Given the description of an element on the screen output the (x, y) to click on. 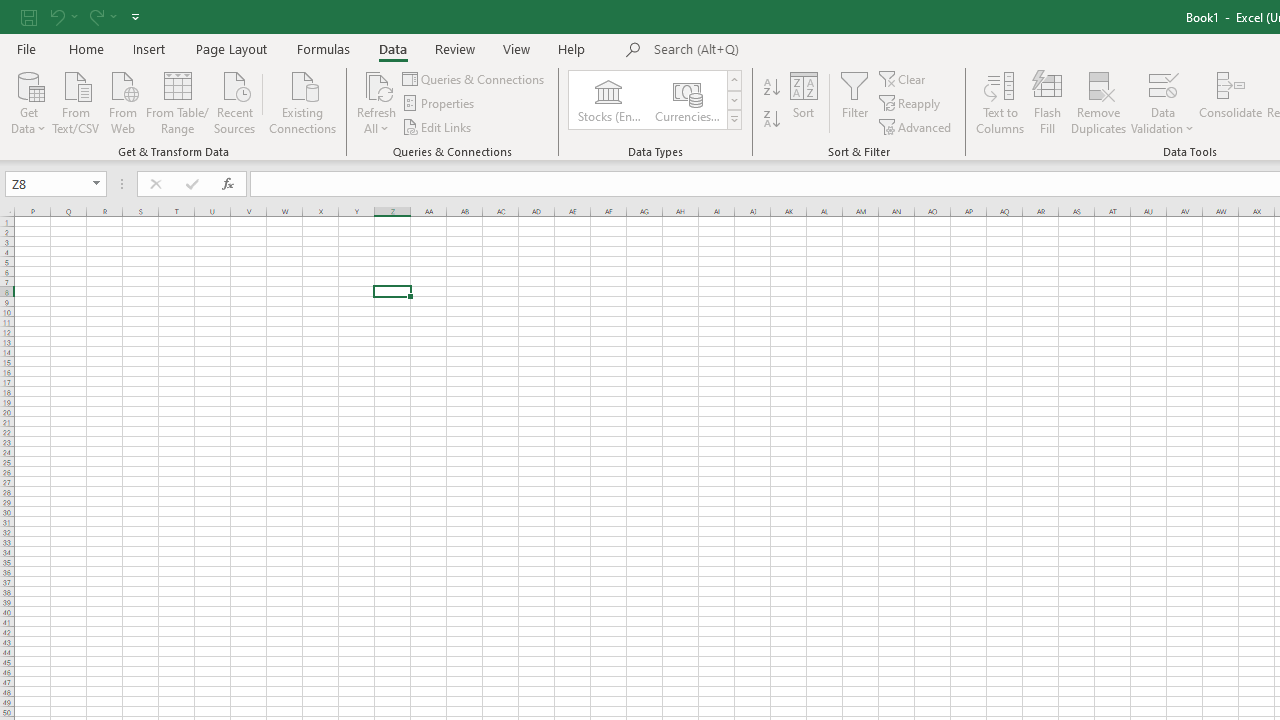
Remove Duplicates (1098, 102)
Flash Fill (1047, 102)
Recent Sources (235, 101)
From Table/Range (177, 101)
Currencies (English) (686, 100)
Row up (734, 79)
Existing Connections (303, 101)
Row Down (734, 100)
Edit Links (438, 126)
